Given the description of an element on the screen output the (x, y) to click on. 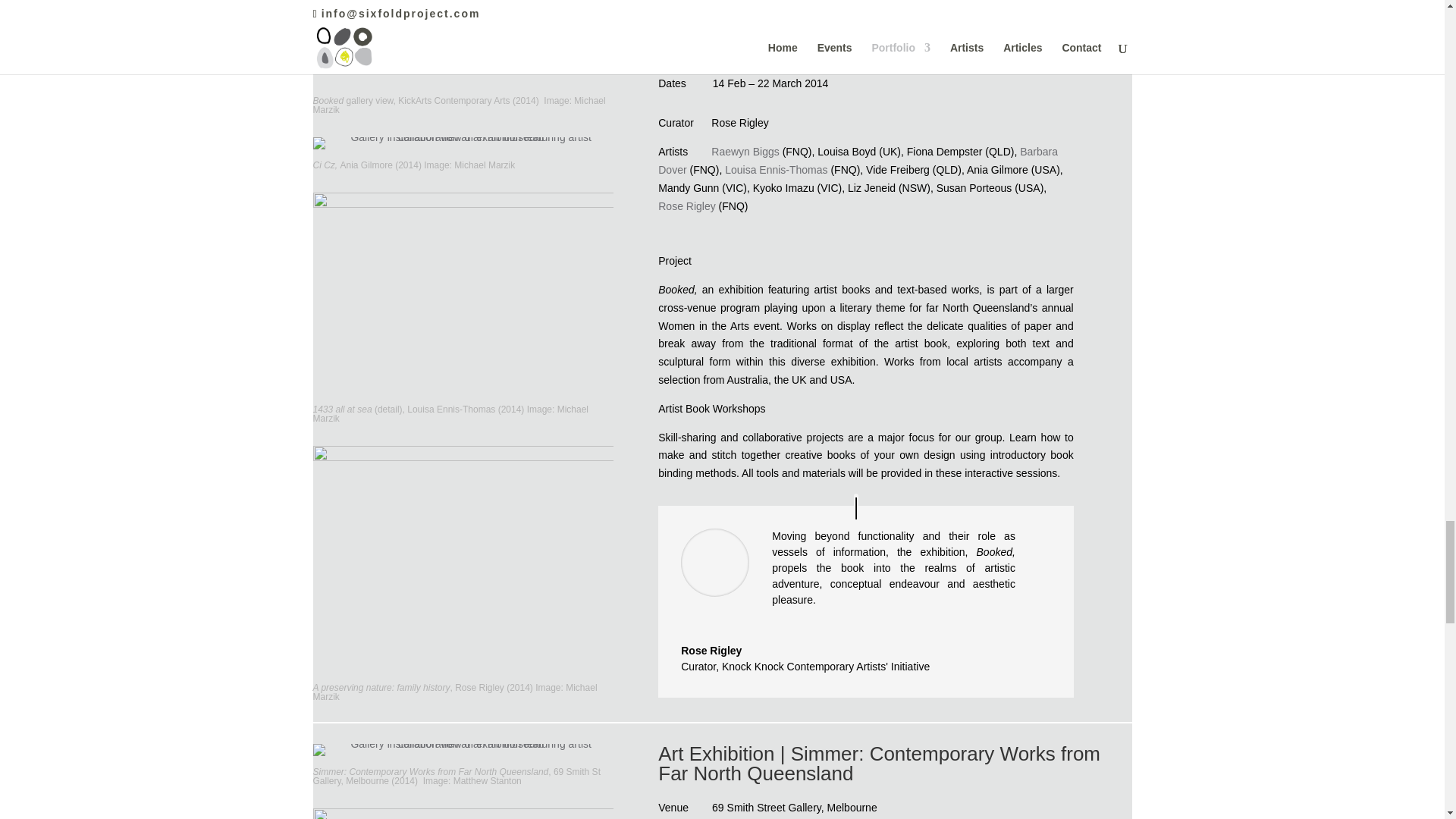
Louisa Ennis-Thomas (776, 169)
Raewyn Biggs (744, 151)
Barbara  Dover (859, 160)
NorthSite Contemporary Arts (779, 55)
Rose Rigley (686, 205)
